Given the description of an element on the screen output the (x, y) to click on. 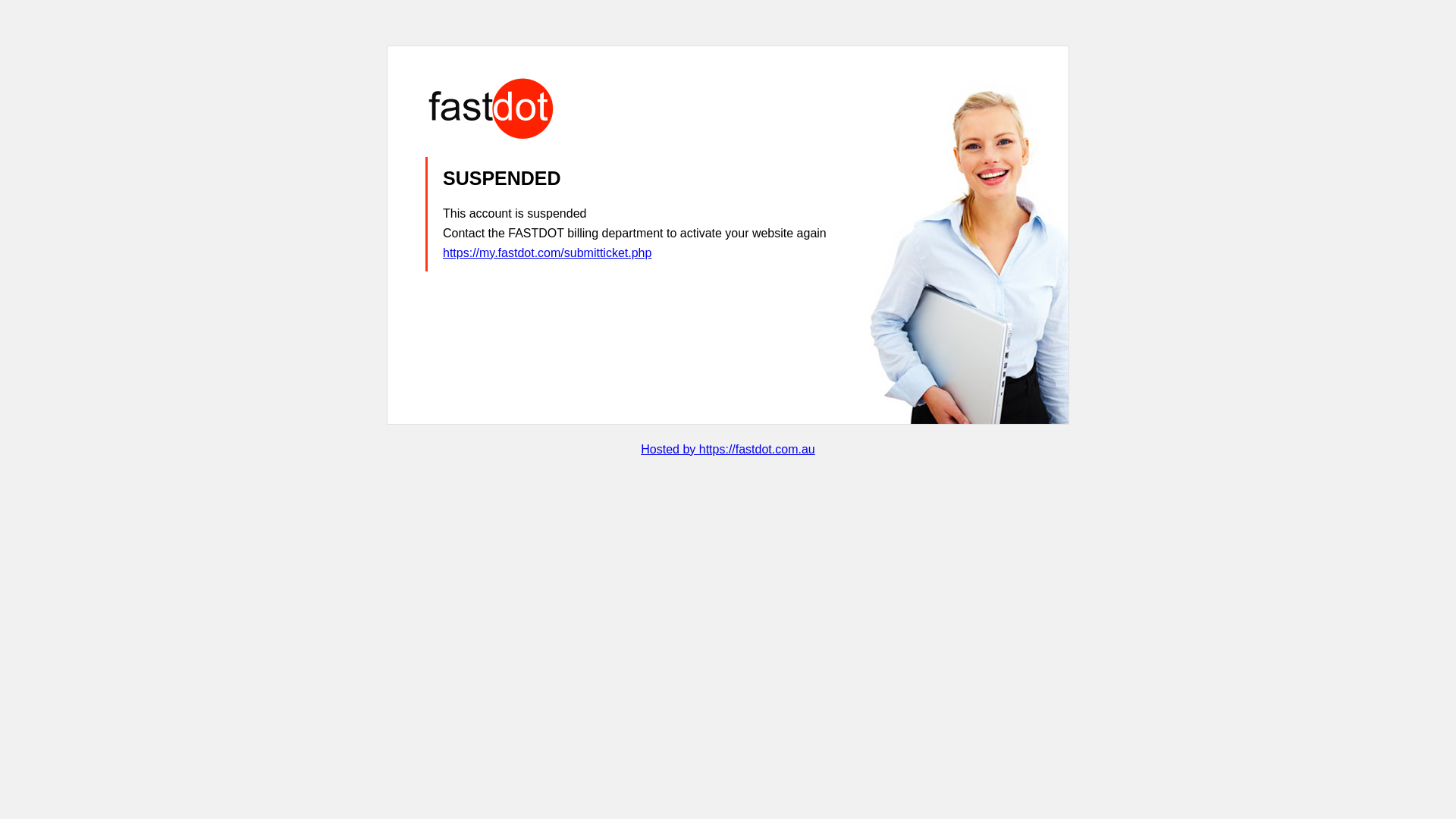
https://my.fastdot.com/submitticket.php Element type: text (546, 252)
Hosted by https://fastdot.com.au Element type: text (727, 448)
